Given the description of an element on the screen output the (x, y) to click on. 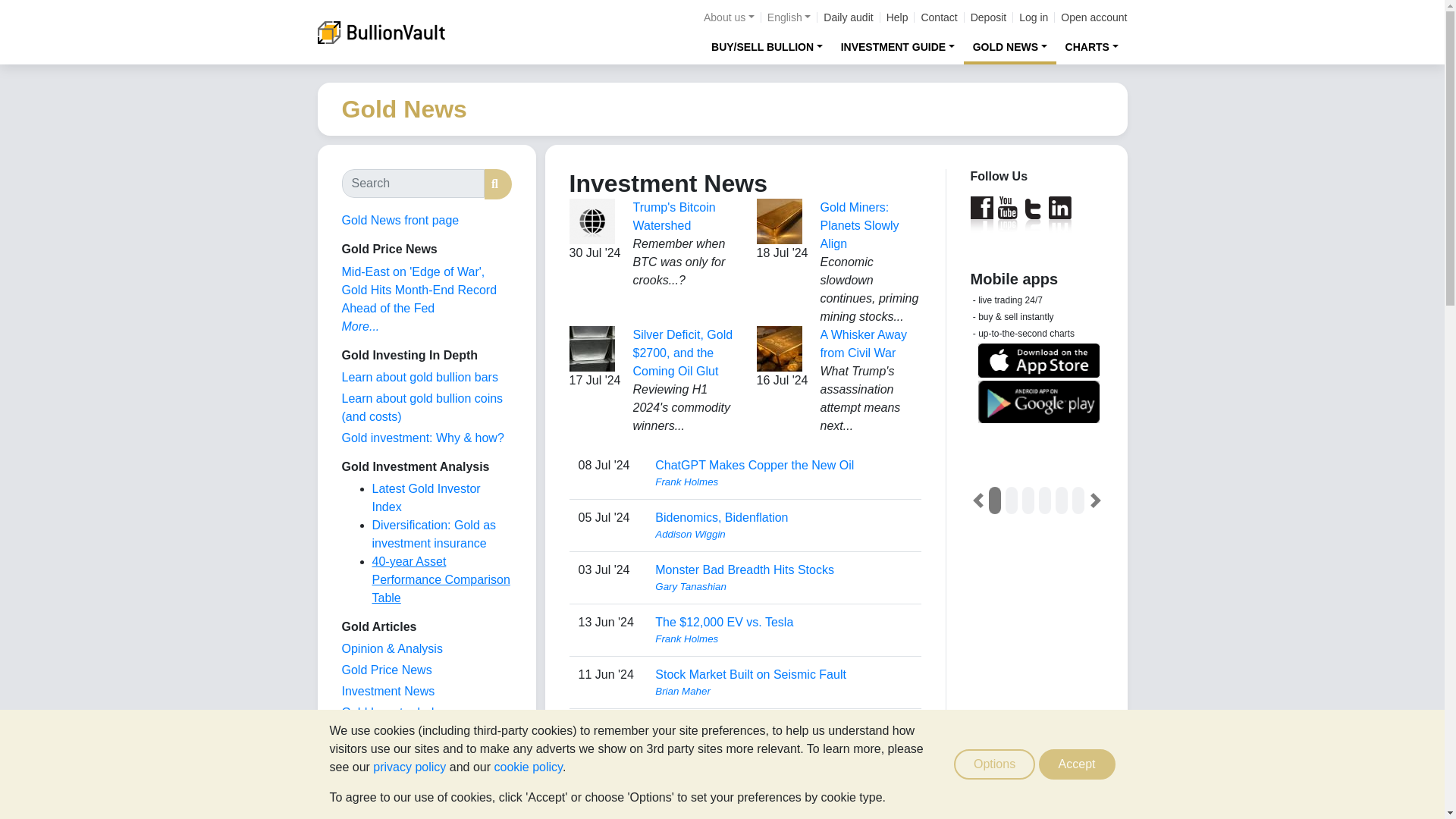
The View from the Vault (391, 648)
View user profile. (783, 743)
Gold Price News (385, 669)
Enter the terms you wish to search for. (411, 183)
Investment News (386, 690)
Accept (1077, 764)
Gold Investor Index (393, 712)
View user profile. (783, 534)
privacy policy (408, 766)
Market Fundamentals (399, 754)
